Given the description of an element on the screen output the (x, y) to click on. 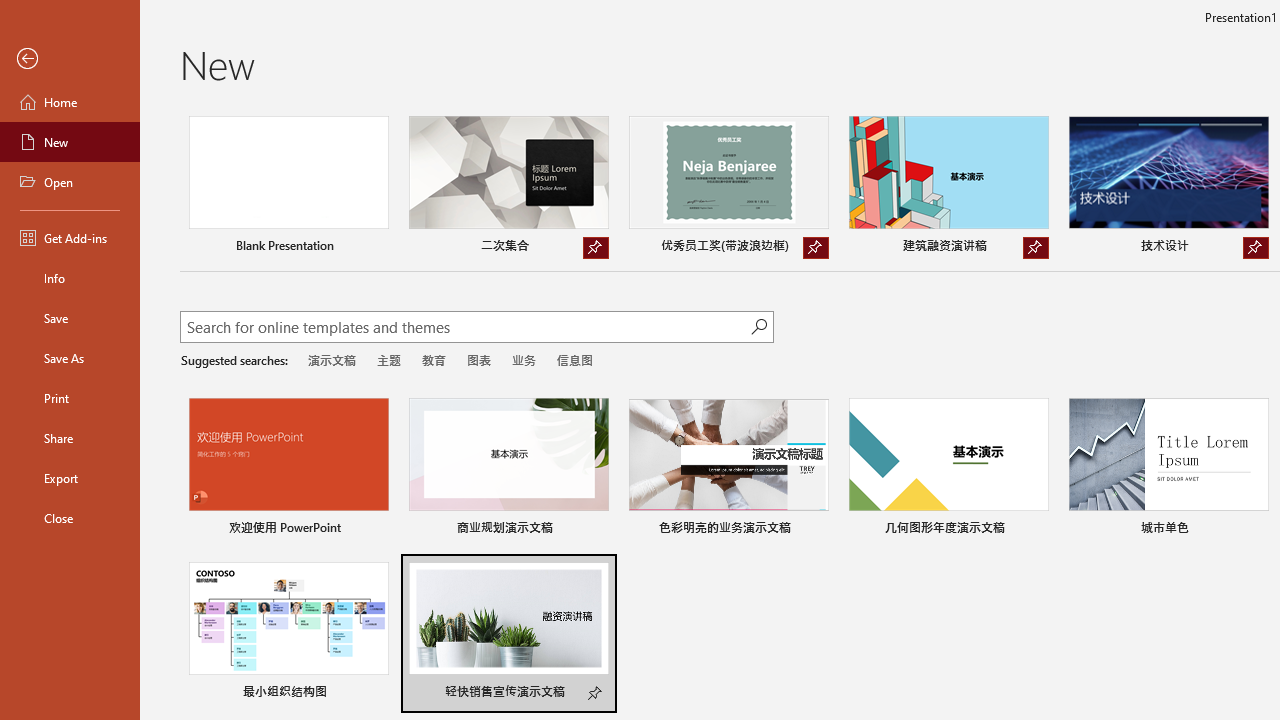
Print (69, 398)
Back (69, 59)
New (69, 141)
Search for online templates and themes (465, 329)
Save As (69, 357)
